Given the description of an element on the screen output the (x, y) to click on. 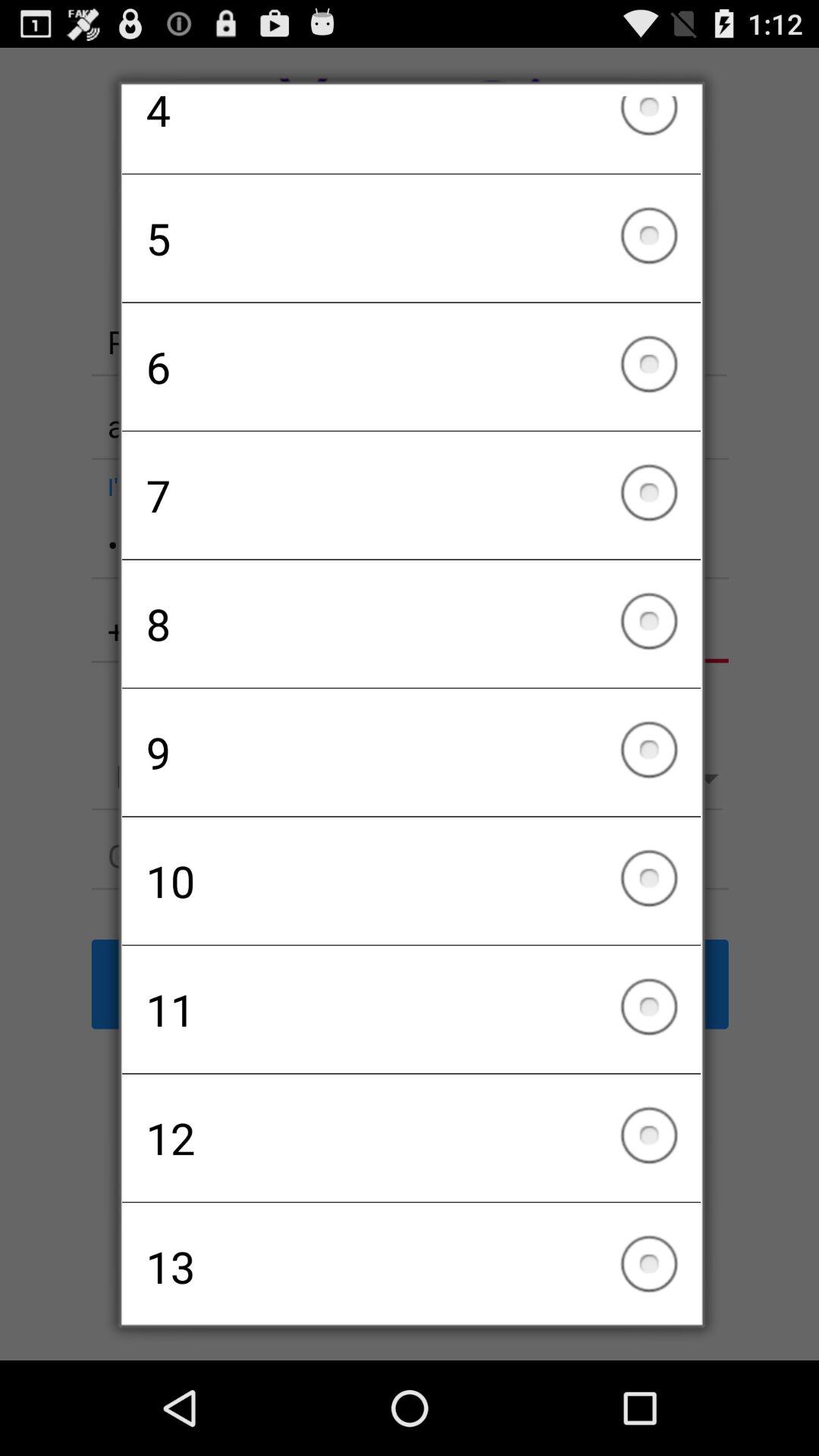
scroll until 9 (411, 752)
